Given the description of an element on the screen output the (x, y) to click on. 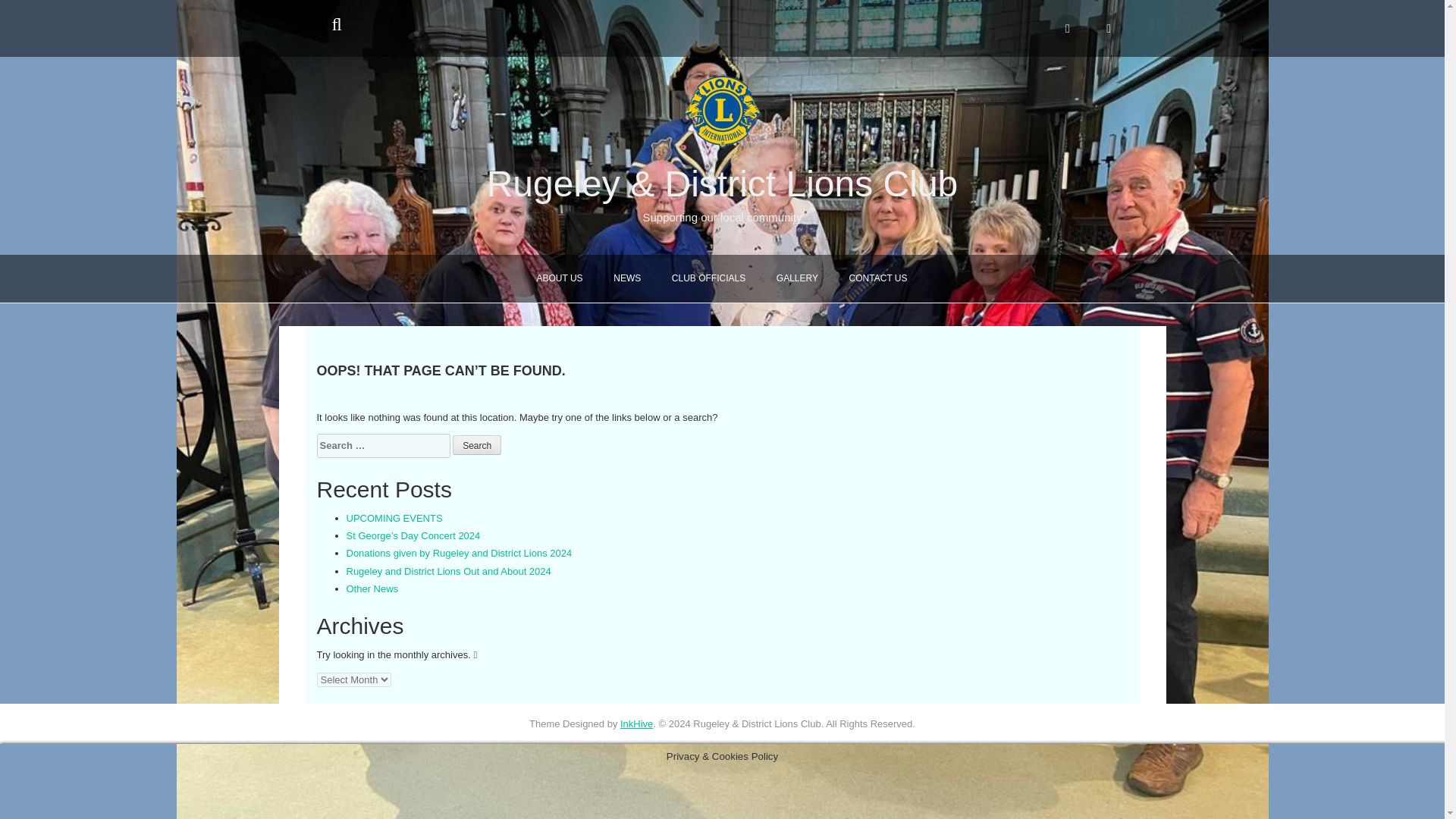
InkHive (636, 723)
GALLERY (796, 278)
Other News (371, 588)
Search (476, 444)
NEWS (626, 278)
Donations given by Rugeley and District Lions 2024 (459, 552)
CONTACT US (878, 278)
Search (476, 444)
UPCOMING EVENTS (394, 518)
Rugeley and District Lions Out and About 2024 (448, 571)
